Given the description of an element on the screen output the (x, y) to click on. 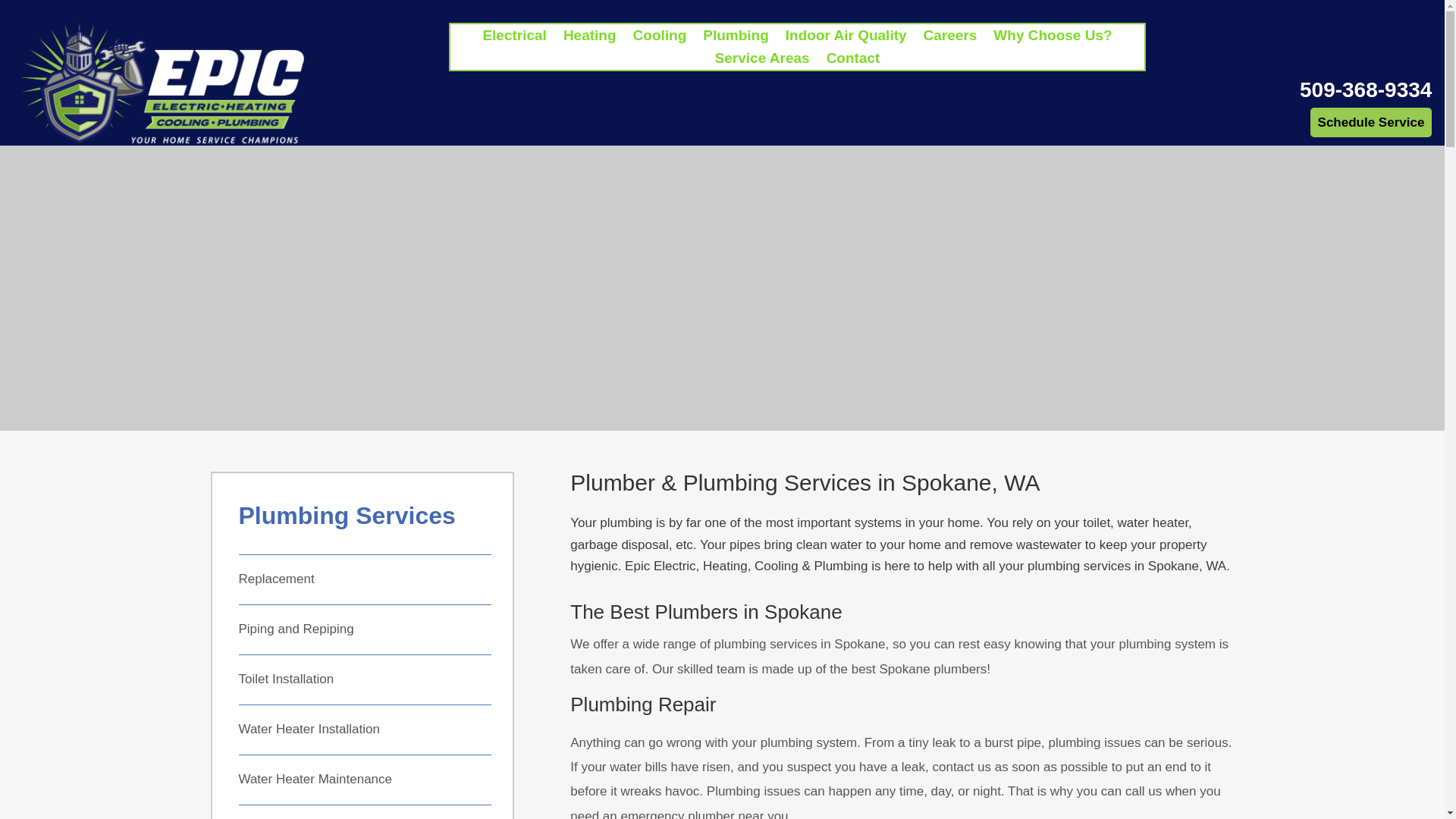
Heating (589, 38)
Electrical (514, 38)
Plumbing (735, 38)
Cooling (660, 38)
